Given the description of an element on the screen output the (x, y) to click on. 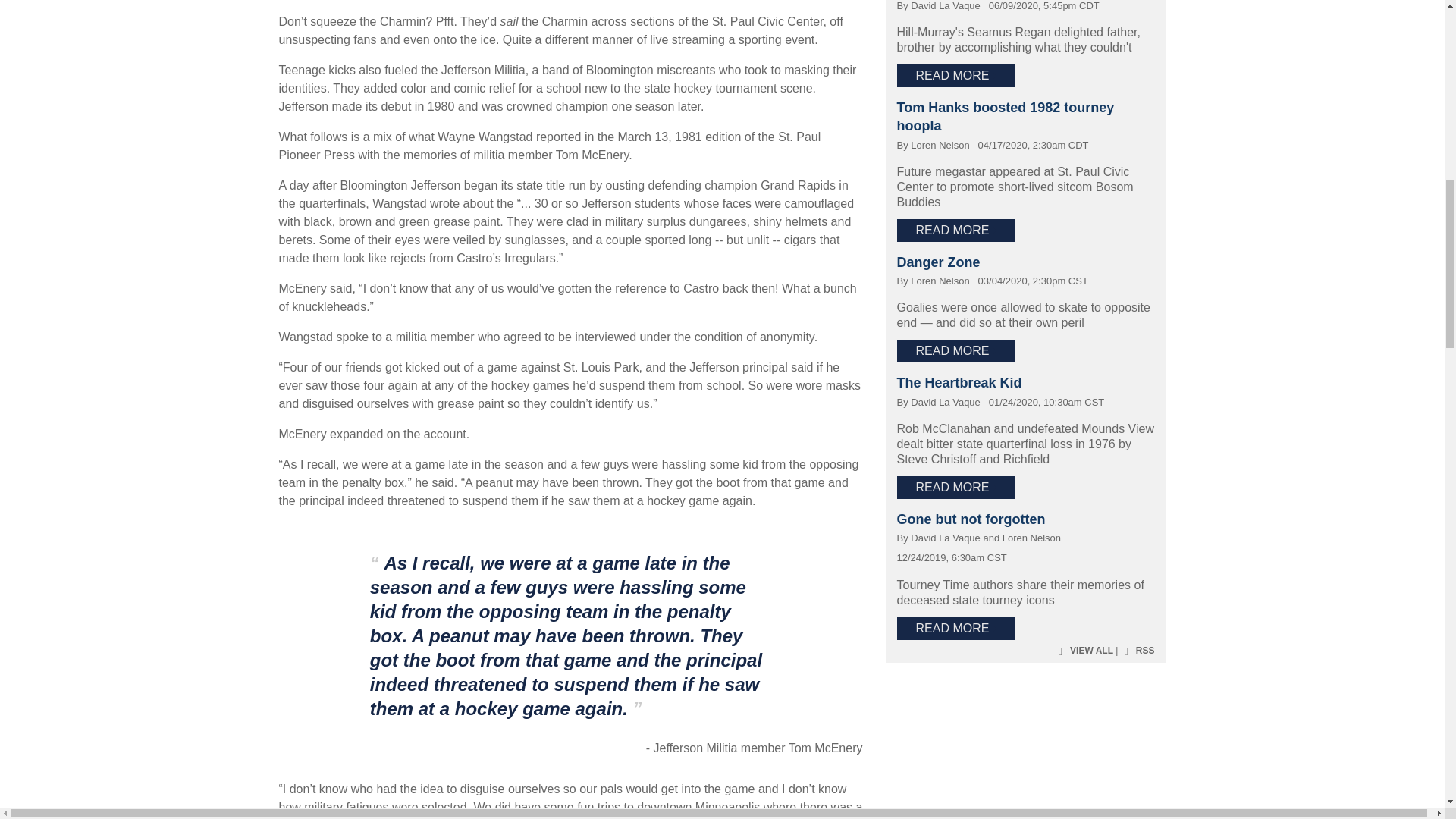
Subscribe to RSS Feed (1137, 651)
READ MORE (955, 75)
View All (1083, 651)
